Given the description of an element on the screen output the (x, y) to click on. 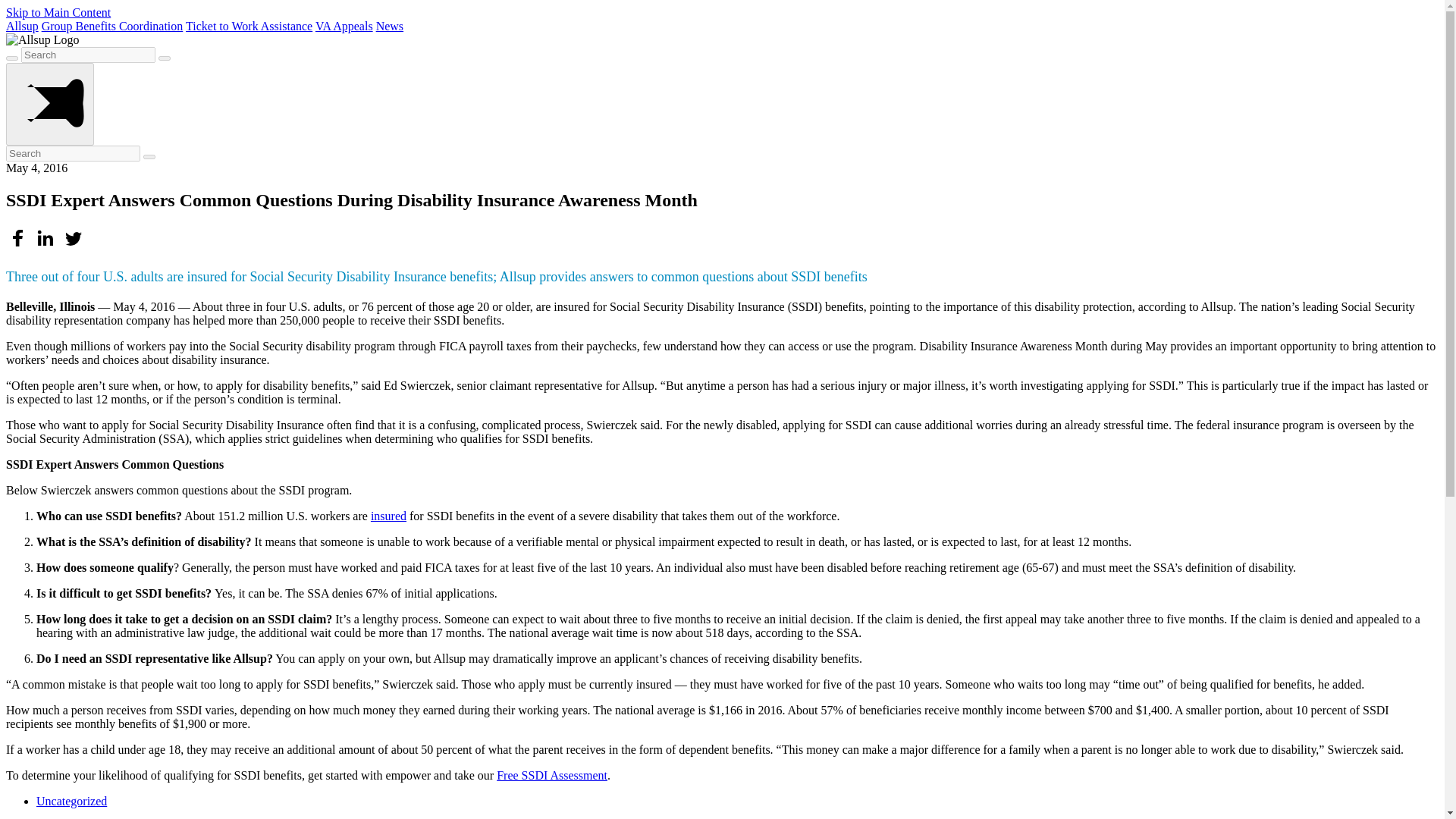
insured (388, 515)
Allsup - Your SSDI Representative for Over 39 Years (22, 25)
Share article on Twitter (72, 238)
Free SSDI Assessment (551, 775)
News (389, 25)
Share article on Twitter (72, 245)
Uncategorized (71, 800)
Group Benefits Coordination (112, 25)
Share article on LinkedIn (47, 245)
Ticket to Work Assistance (249, 25)
